Given the description of an element on the screen output the (x, y) to click on. 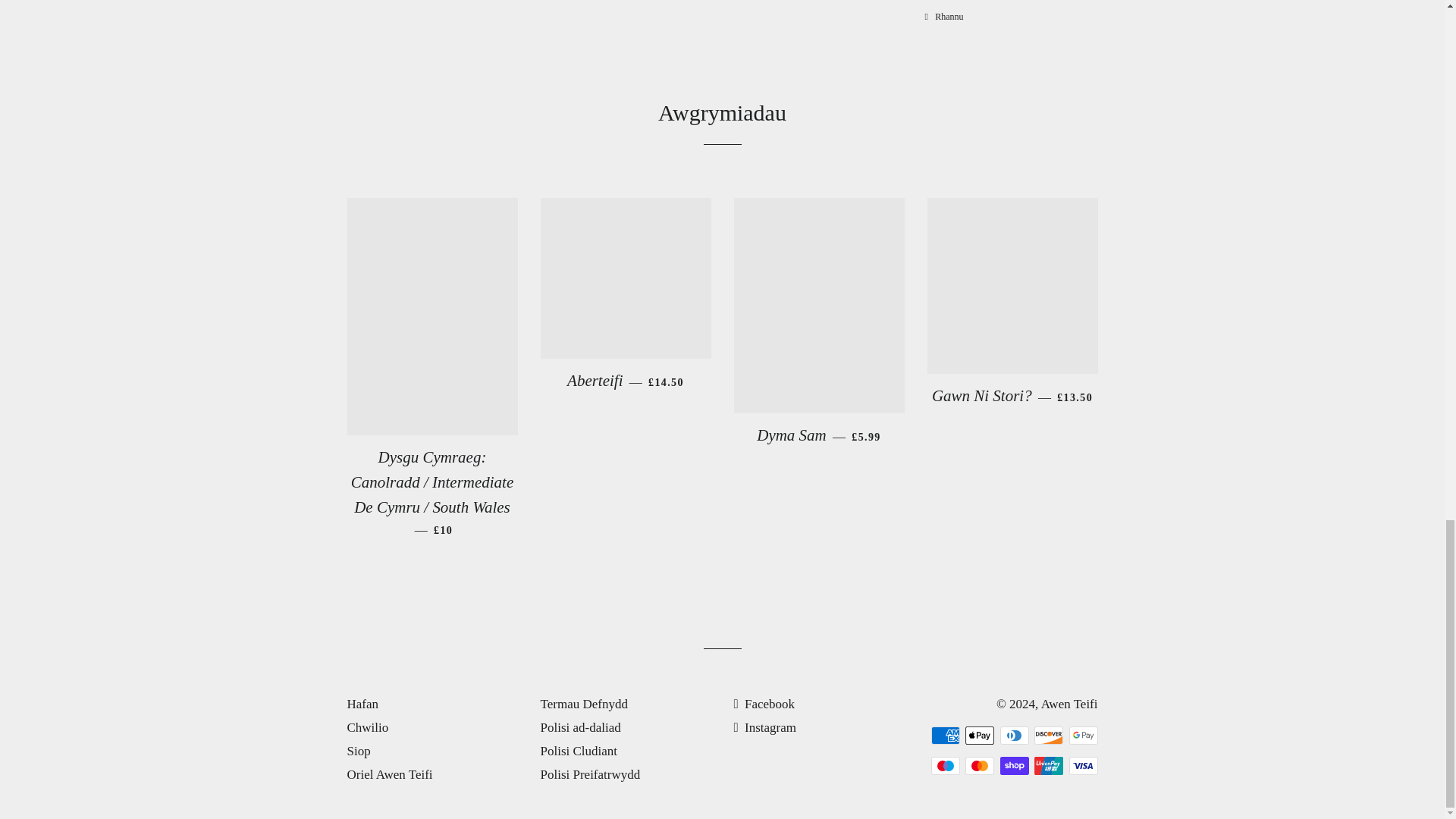
Awen Teifi ar Facebook (763, 703)
Union Pay (1047, 765)
Awen Teifi ar Instagram (764, 727)
Discover (1047, 735)
American Express (945, 735)
Mastercard (979, 765)
Visa (1082, 765)
Rhannwch ar Facebook (944, 16)
Diners Club (1012, 735)
Maestro (945, 765)
